Given the description of an element on the screen output the (x, y) to click on. 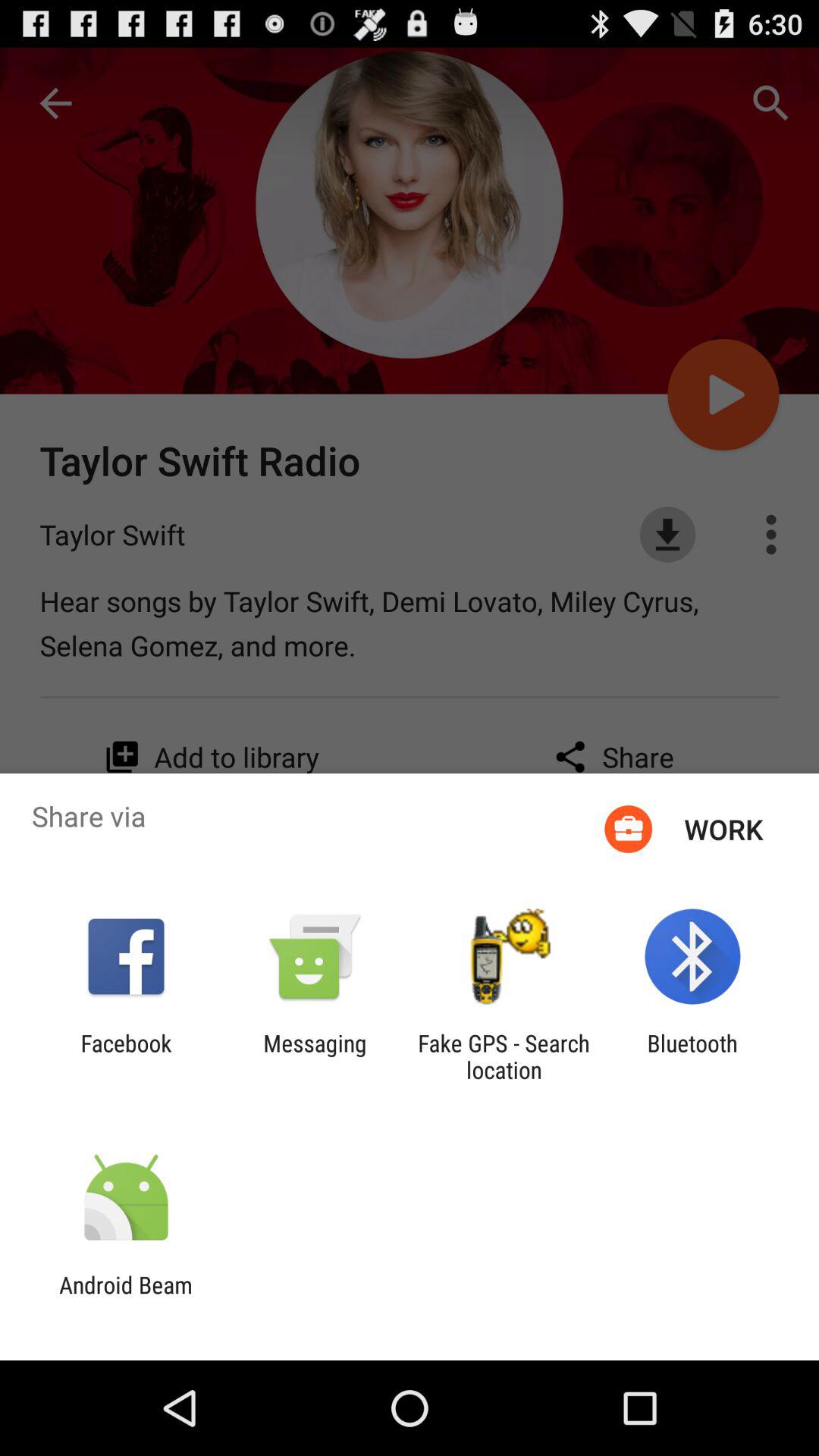
scroll until fake gps search (503, 1056)
